Given the description of an element on the screen output the (x, y) to click on. 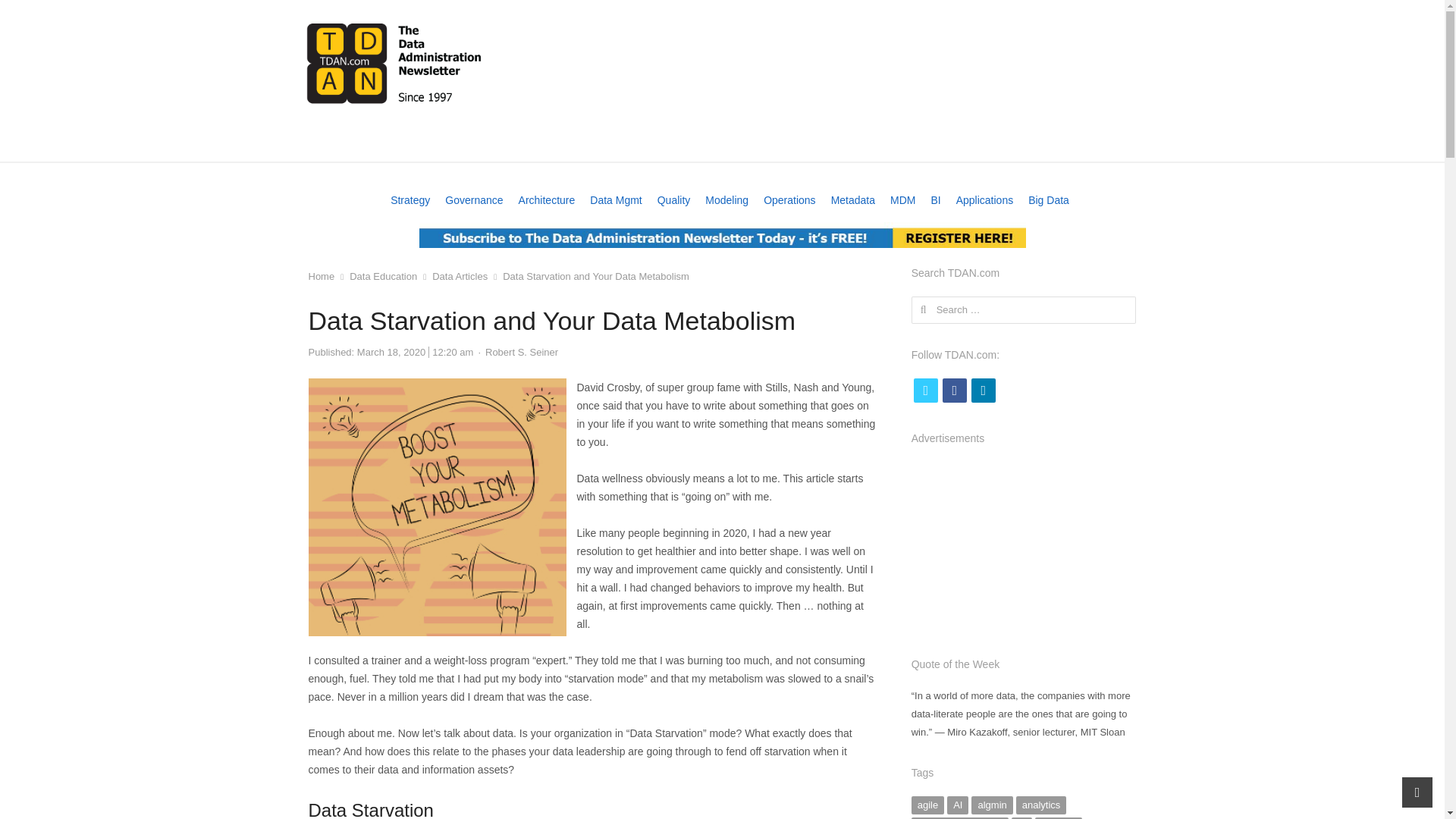
scroll to top (1417, 792)
Conferences (395, 144)
Online Training (554, 144)
TDAN.com (394, 63)
Robert S. Seiner (520, 351)
Archives (1016, 144)
Modeling (726, 200)
White Papers (646, 144)
Quality (674, 200)
Data Education (382, 276)
Home (325, 144)
Columns (782, 144)
Linkedin (983, 390)
Subscribe to TDAN.com (722, 234)
Big Data (1047, 200)
